Given the description of an element on the screen output the (x, y) to click on. 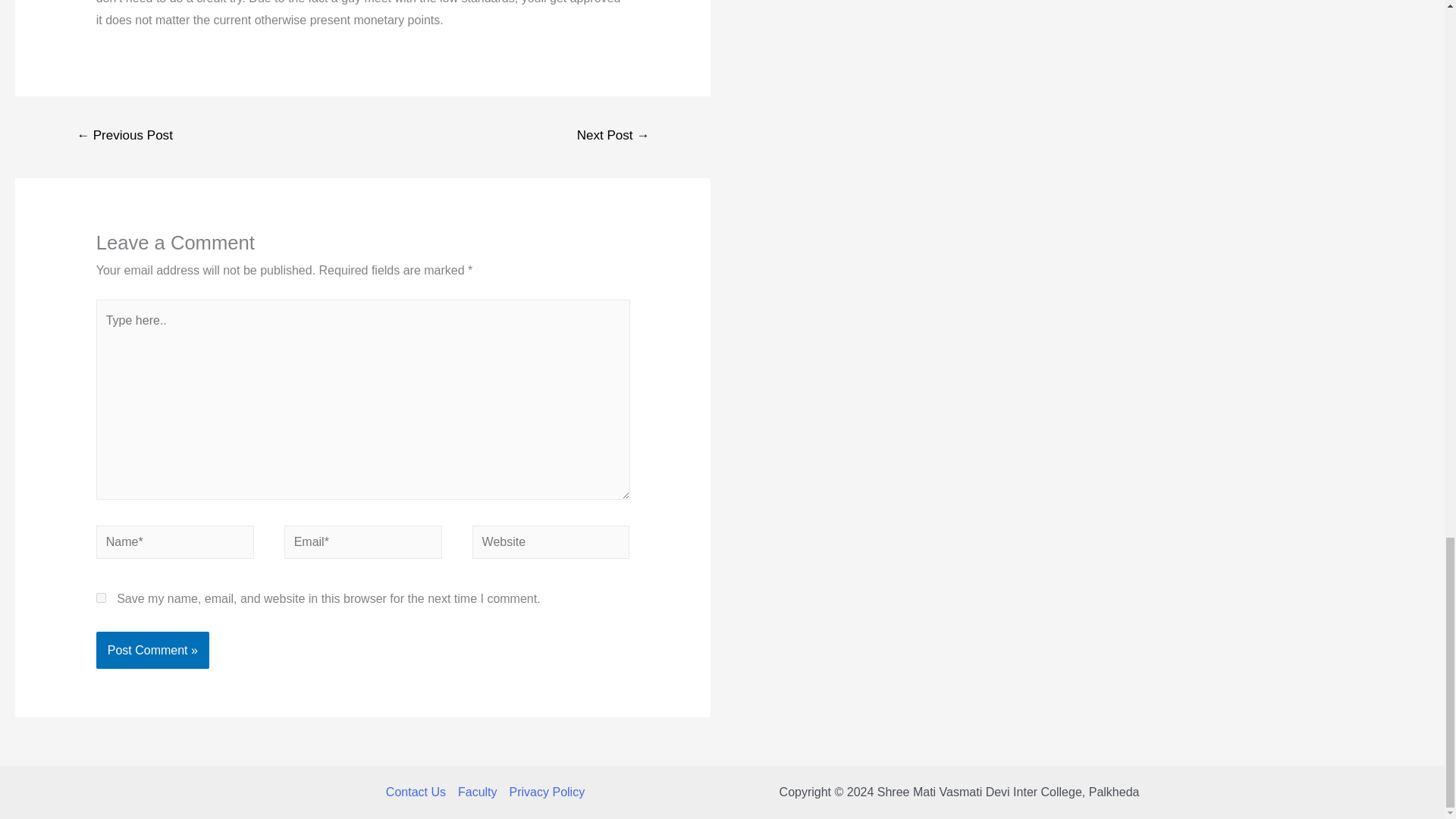
Faculty (477, 792)
Contact Us (418, 792)
Privacy Policy (544, 792)
yes (101, 597)
